Given the description of an element on the screen output the (x, y) to click on. 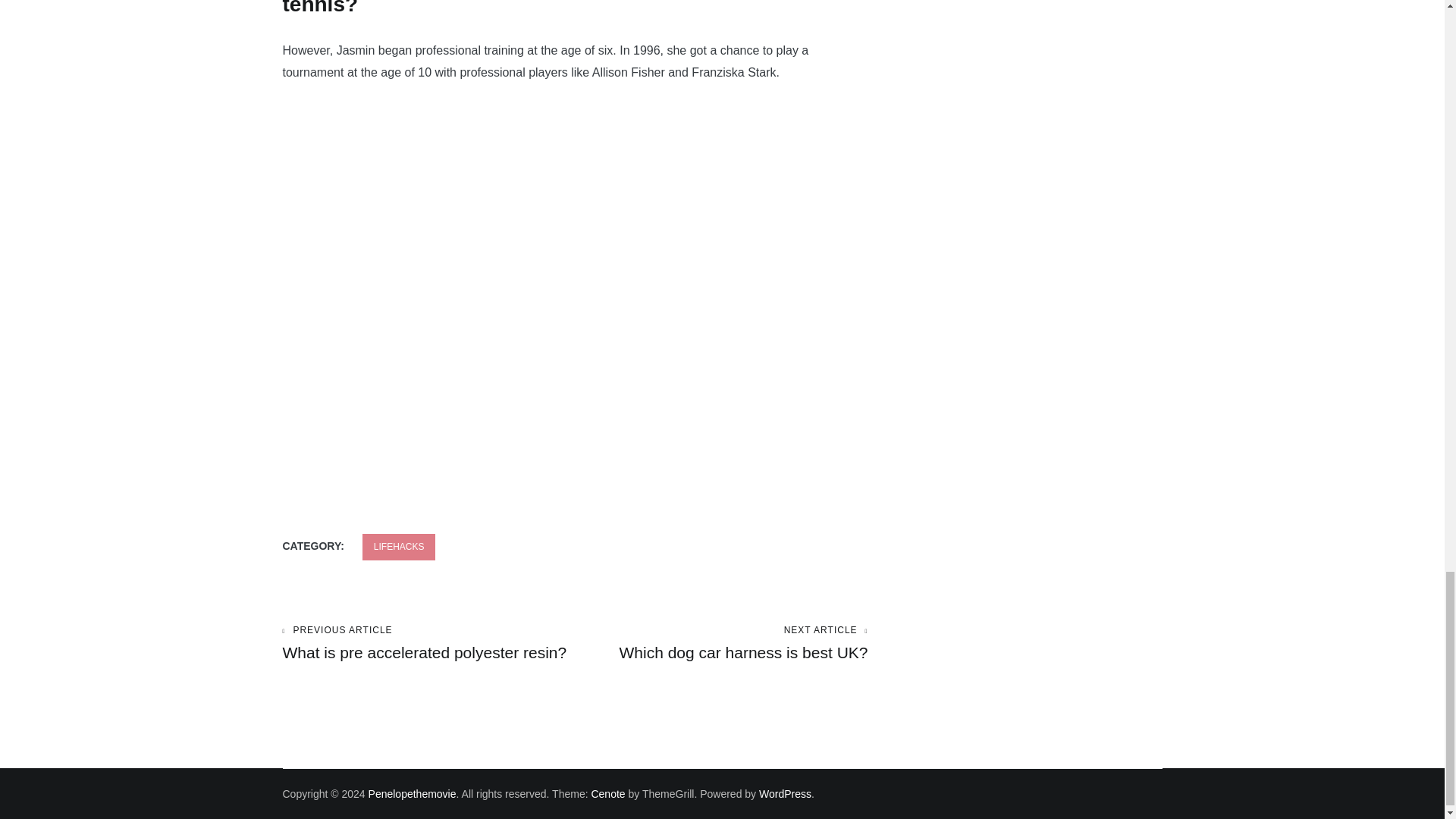
Penelopethemovie (412, 793)
LIFEHACKS (721, 642)
